Given the description of an element on the screen output the (x, y) to click on. 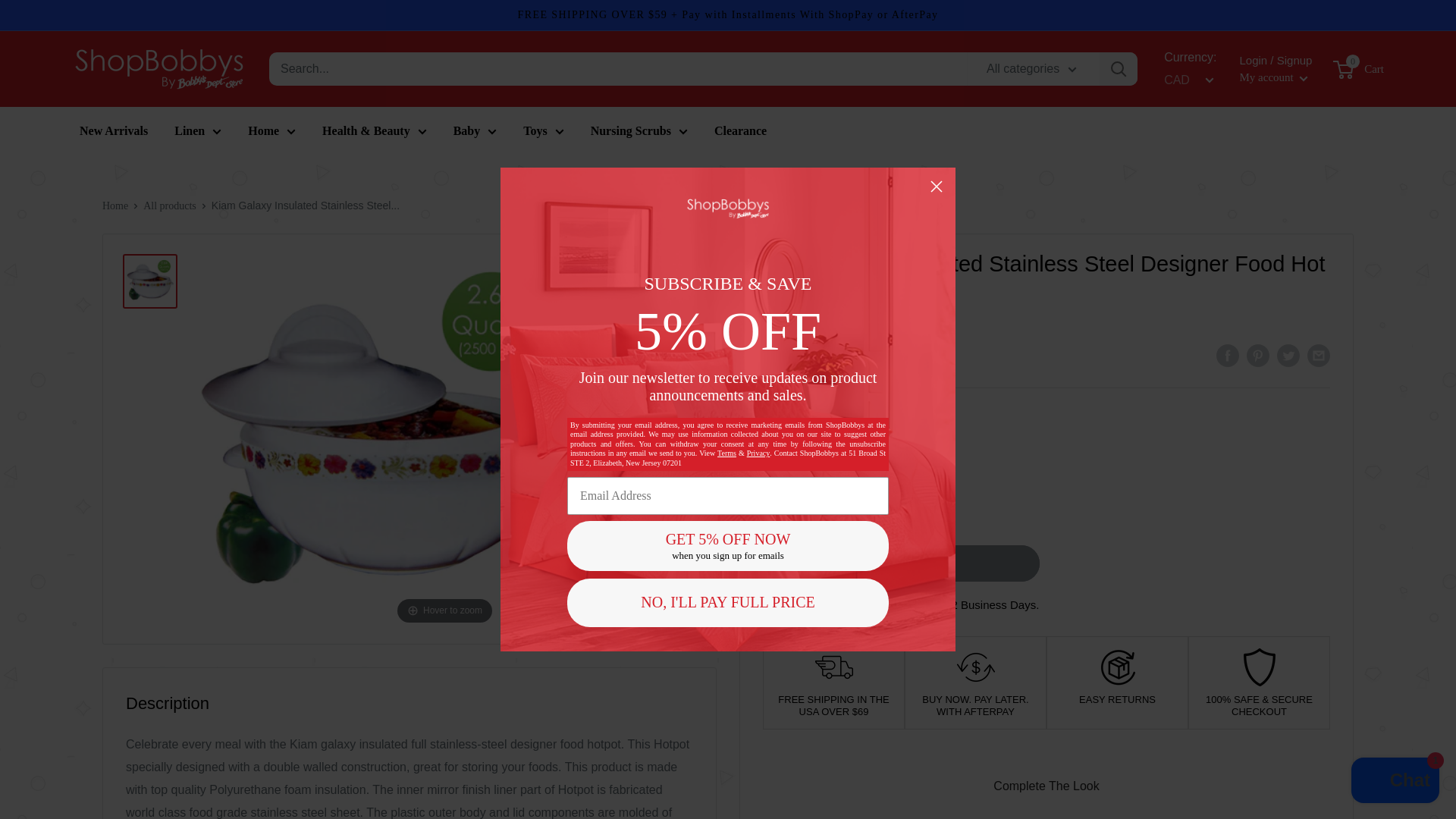
Currency (1186, 79)
Shopify online store chat (1395, 781)
